Given the description of an element on the screen output the (x, y) to click on. 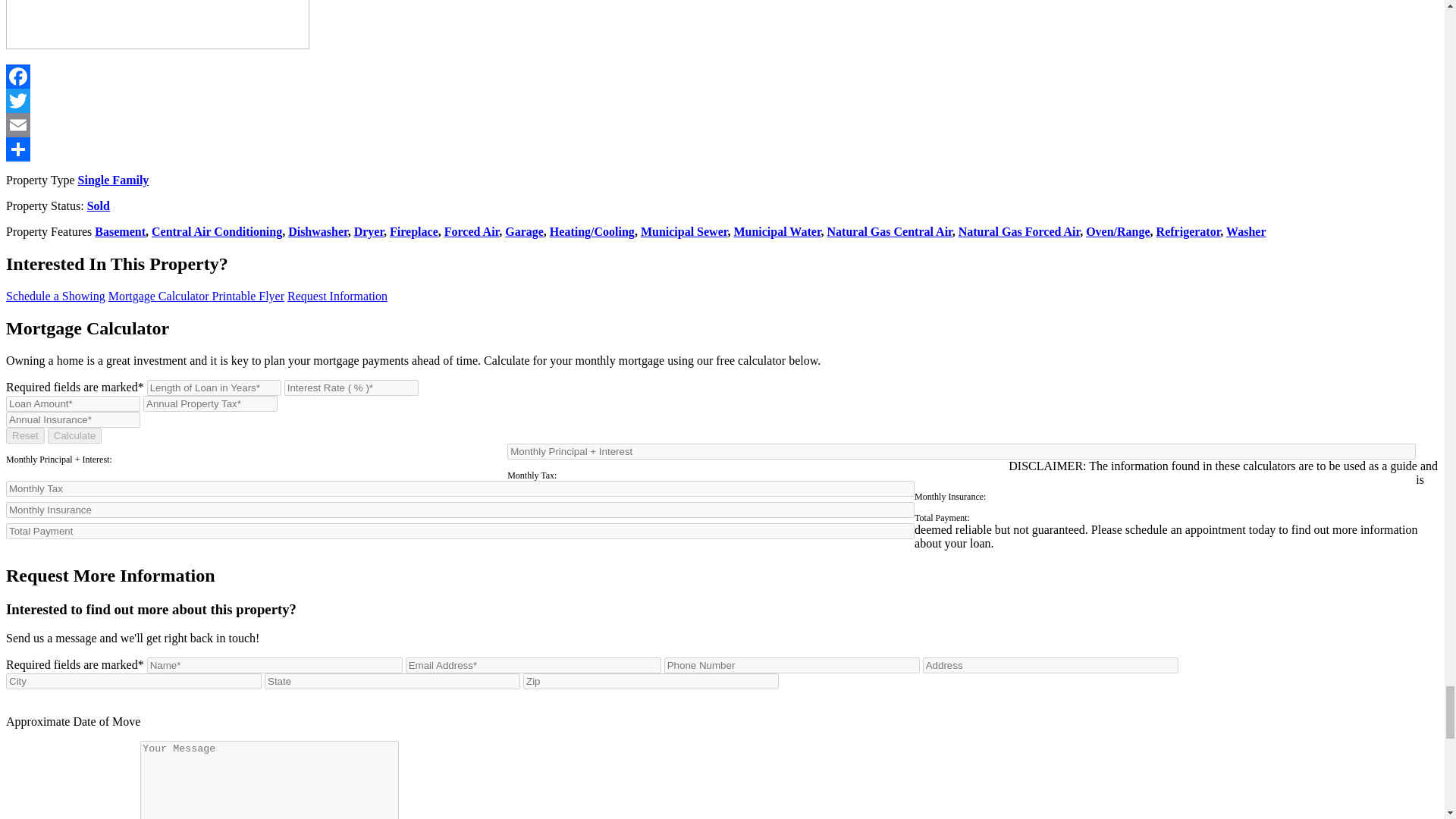
Reset (25, 435)
Calculate (74, 435)
